Given the description of an element on the screen output the (x, y) to click on. 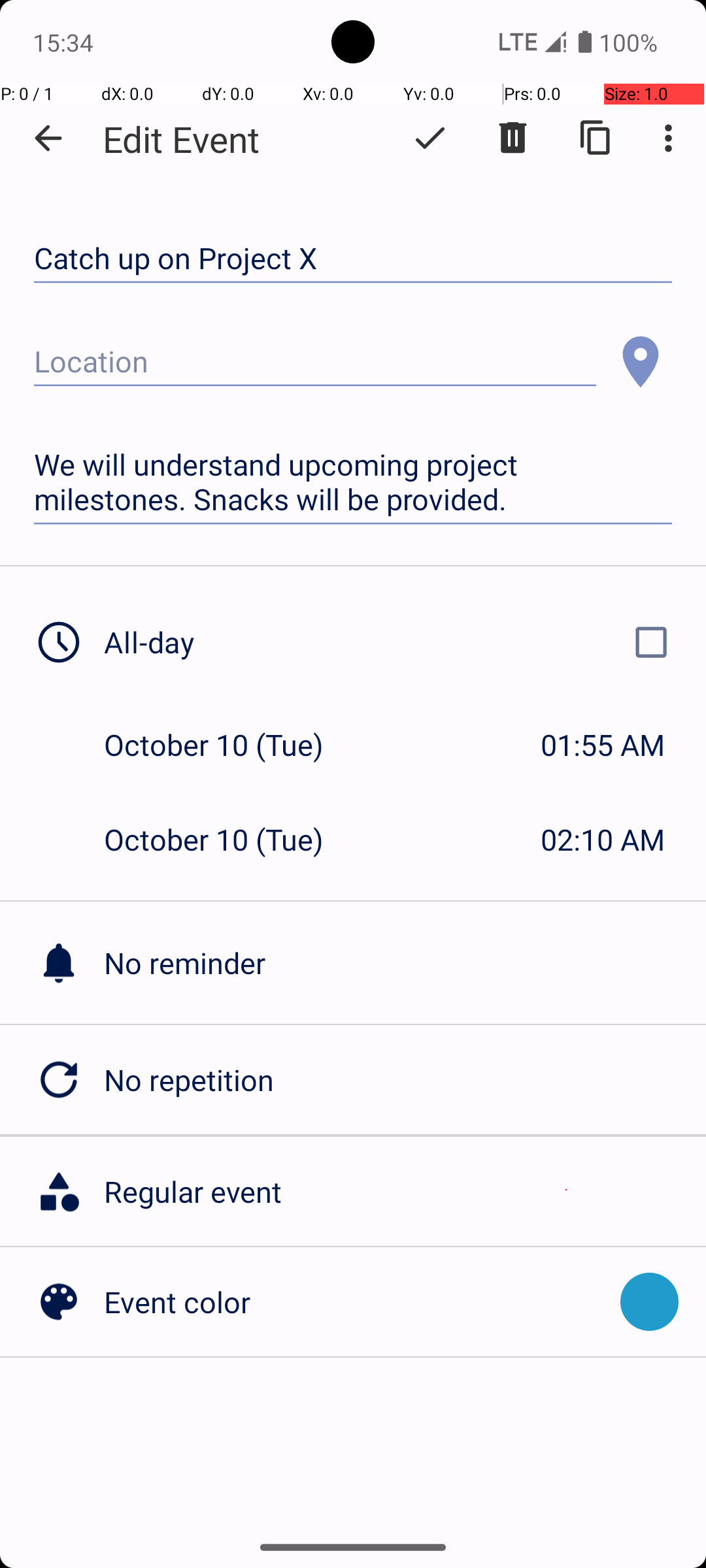
We will understand upcoming project milestones. Snacks will be provided. Element type: android.widget.EditText (352, 482)
October 10 (Tue) Element type: android.widget.TextView (227, 744)
01:55 AM Element type: android.widget.TextView (602, 744)
02:10 AM Element type: android.widget.TextView (602, 838)
